Given the description of an element on the screen output the (x, y) to click on. 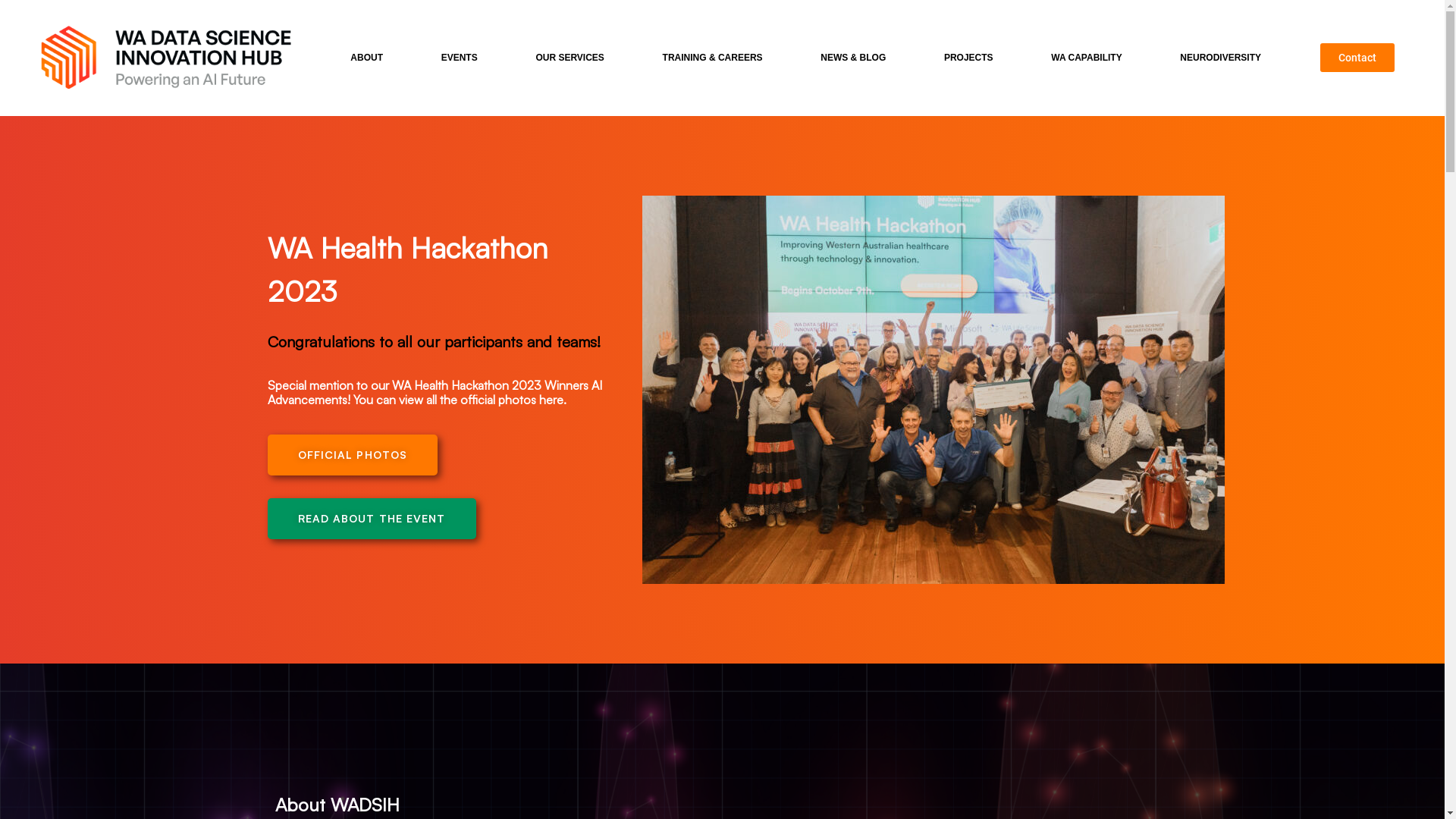
READ ABOUT THE EVENT Element type: text (370, 518)
PROJECTS Element type: text (972, 57)
NEURODIVERSITY Element type: text (1220, 57)
WA CAPABILITY Element type: text (1090, 57)
OUR SERVICES Element type: text (573, 57)
NEWS & BLOG Element type: text (857, 57)
OFFICIAL PHOTOS Element type: text (351, 454)
Contact Element type: text (1357, 57)
EVENTS Element type: text (462, 57)
TRAINING & CAREERS Element type: text (716, 57)
ABOUT Element type: text (370, 57)
